Given the description of an element on the screen output the (x, y) to click on. 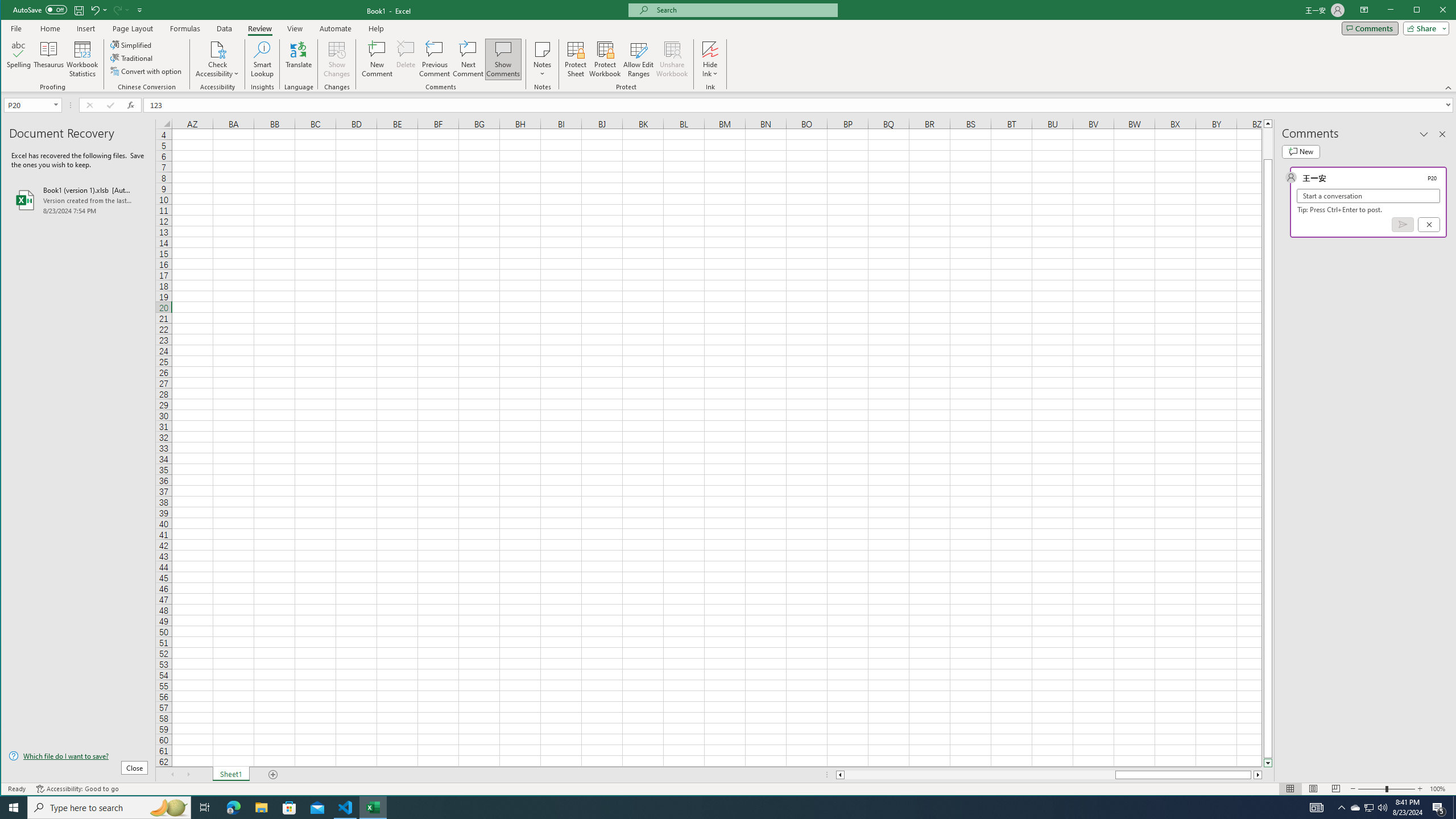
Workbook Statistics (82, 59)
Microsoft Edge (233, 807)
Show Changes (335, 59)
Spelling... (18, 59)
New Comment (377, 59)
Protect Sheet... (575, 59)
Notification Chevron (1341, 807)
